Given the description of an element on the screen output the (x, y) to click on. 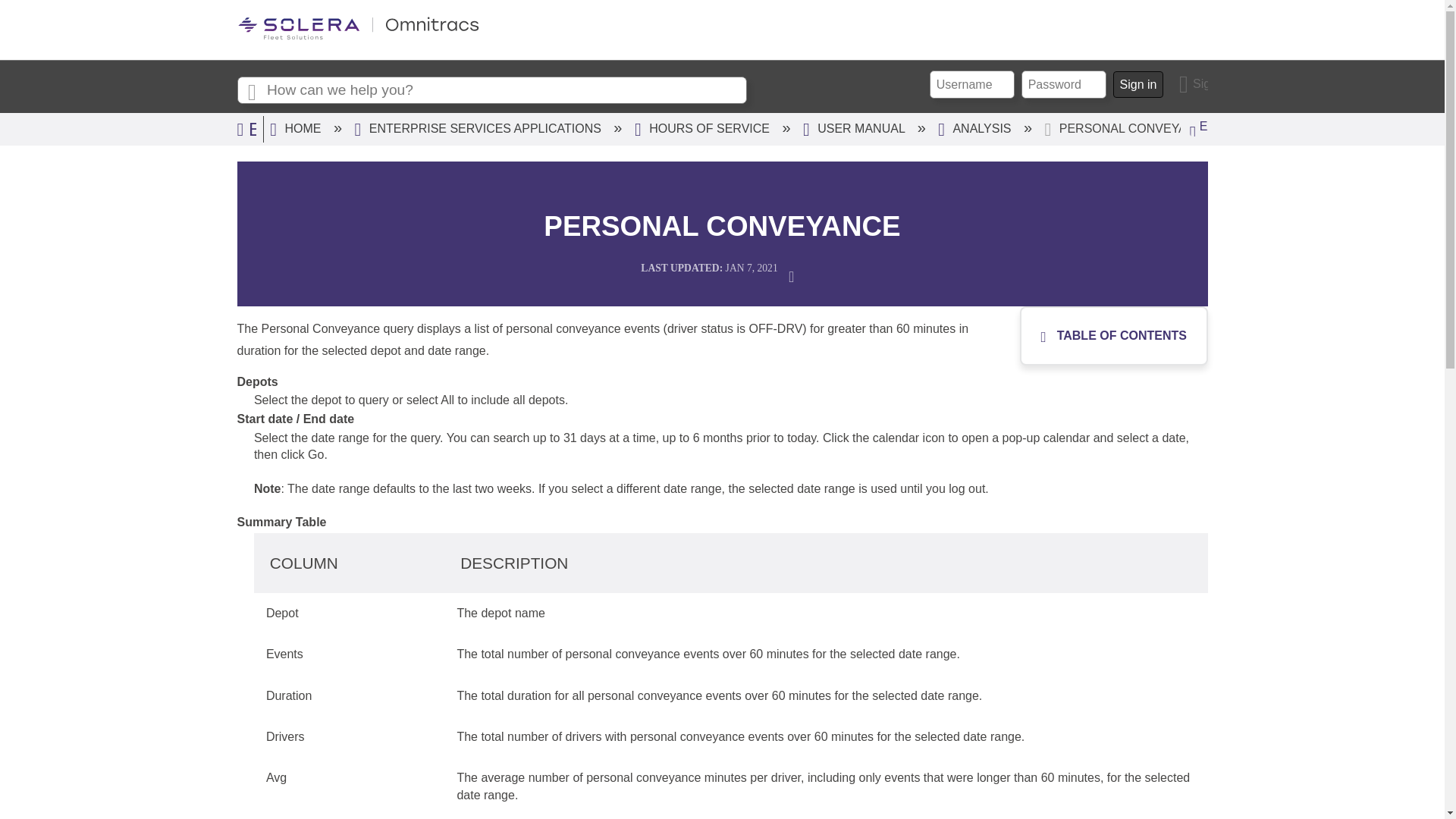
Omnitracs Knowledge Base (357, 36)
Sign in (1193, 84)
TABLE OF CONTENTS (1110, 335)
SAVE AS PDF (796, 275)
USER MANUAL (855, 128)
Export page as a PDF (796, 275)
ANALYSIS (975, 128)
Search (250, 90)
HOURS OF SERVICE (703, 128)
Sign in (1193, 84)
ENTERPRISE SERVICES APPLICATIONS (480, 128)
Sign in (1138, 84)
HOME (296, 128)
